Given the description of an element on the screen output the (x, y) to click on. 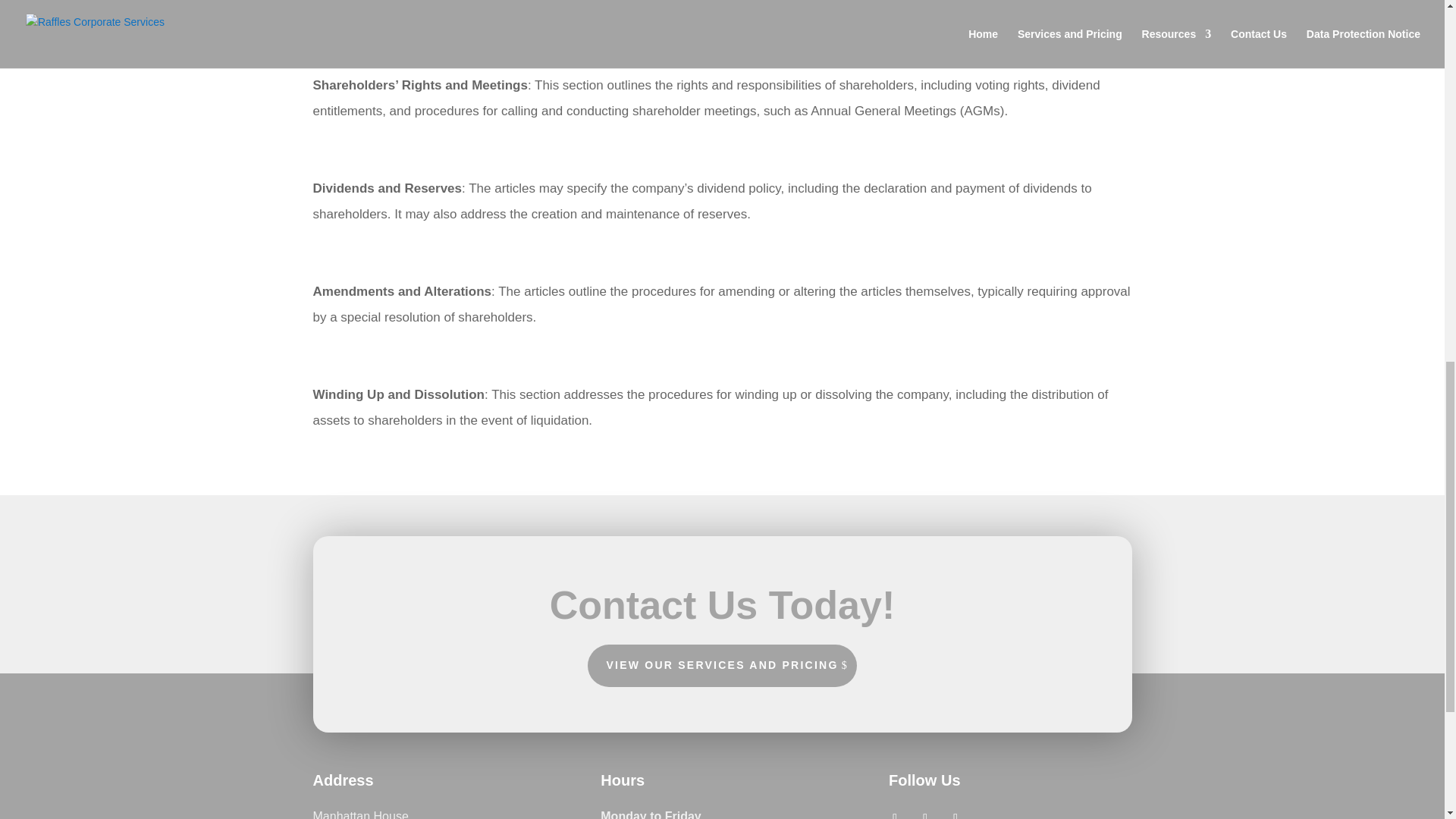
Follow on Facebook (894, 812)
Follow on LinkedIn (955, 812)
Follow on Youtube (924, 812)
VIEW OUR SERVICES AND PRICING (722, 665)
